Given the description of an element on the screen output the (x, y) to click on. 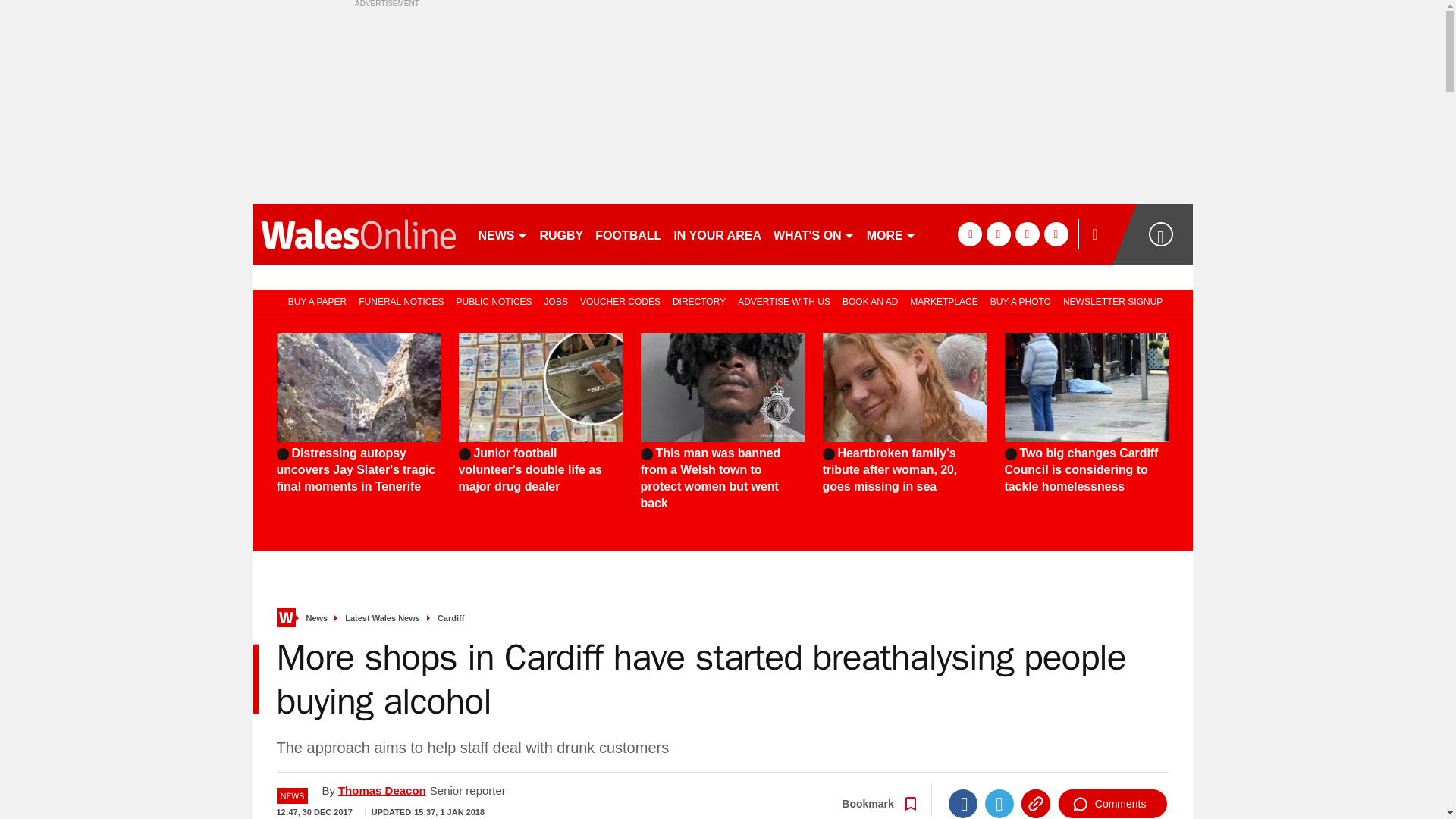
IN YOUR AREA (716, 233)
pinterest (1026, 233)
NEWS (501, 233)
instagram (1055, 233)
Facebook (962, 803)
Comments (1112, 803)
FOOTBALL (627, 233)
WHAT'S ON (813, 233)
facebook (968, 233)
walesonline (357, 233)
RUGBY (561, 233)
Twitter (999, 803)
twitter (997, 233)
